Given the description of an element on the screen output the (x, y) to click on. 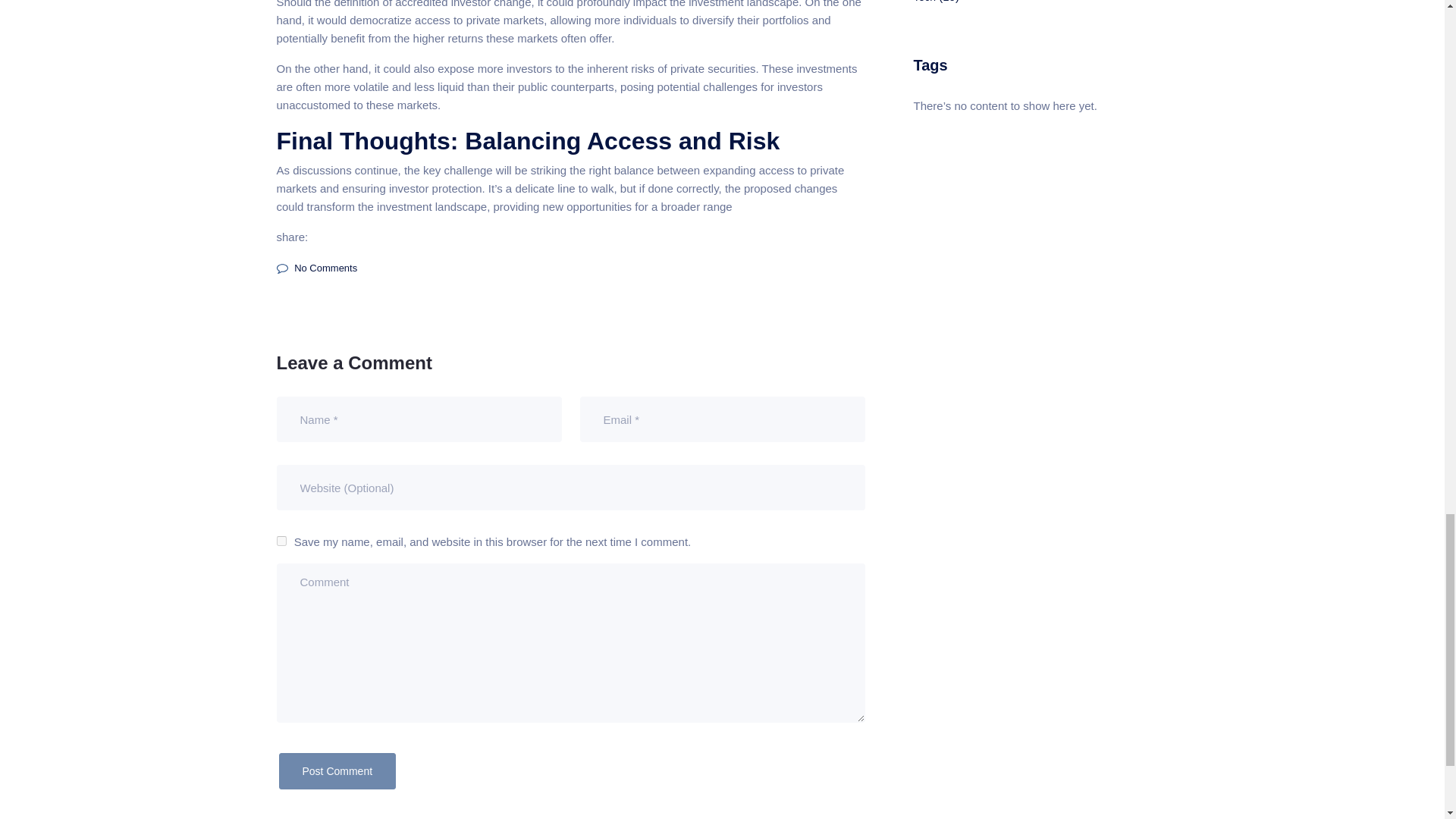
Post Comment (337, 770)
Tech (924, 1)
Post Comment (337, 770)
yes (280, 541)
No Comments (316, 267)
